Given the description of an element on the screen output the (x, y) to click on. 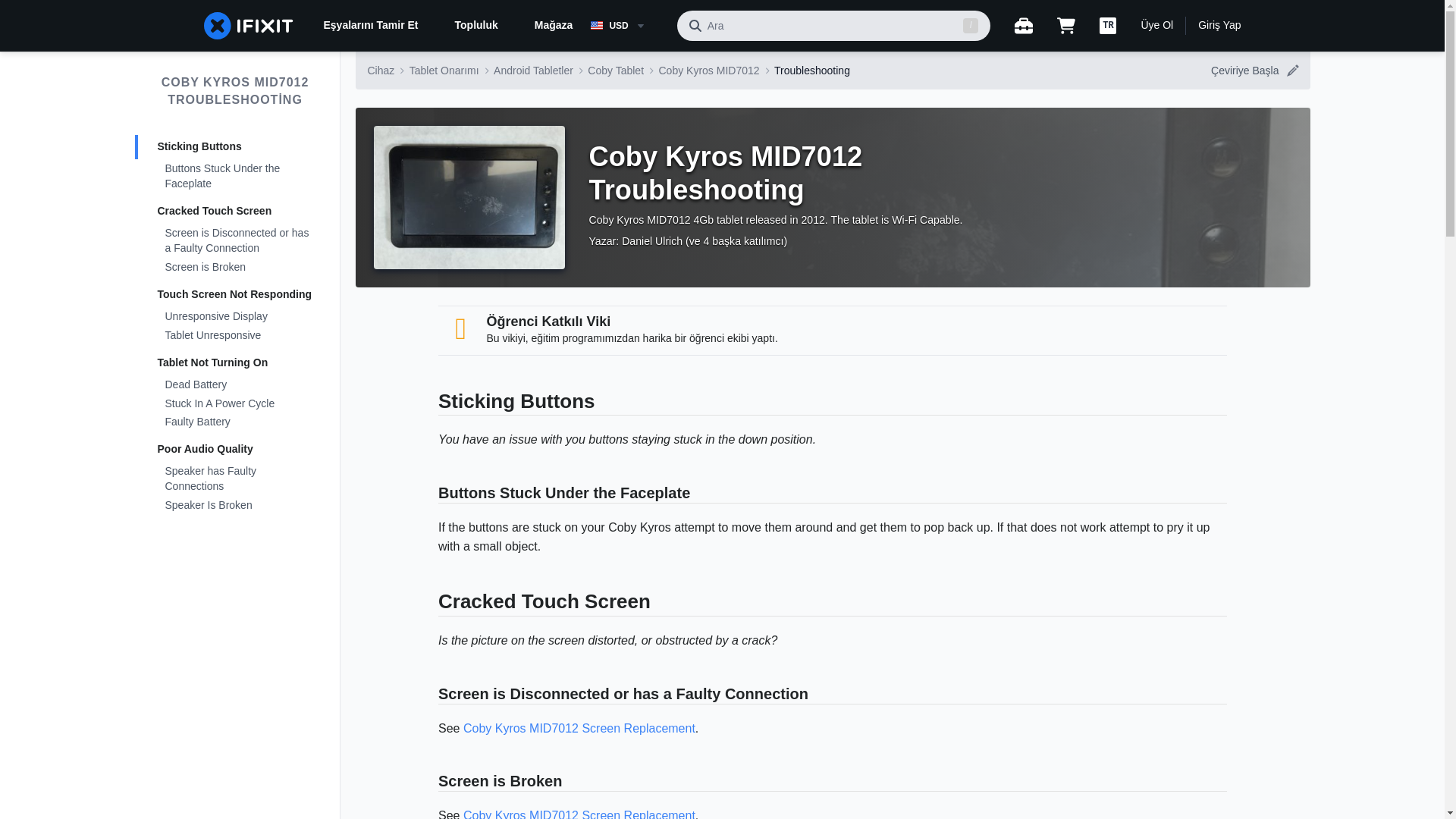
Unresponsive Display (235, 317)
Buttons Stuck Under the Faceplate (235, 176)
Faulty Battery (235, 422)
Troubleshooting (812, 70)
Sticking Buttons (235, 146)
Dead Battery (235, 385)
Stuck In A Power Cycle (235, 403)
Screen is Broken (235, 267)
Cracked Touch Screen (235, 211)
Coby Tablet (615, 70)
Speaker has Faulty Connections (235, 479)
Screen is Disconnected or has a Faulty Connection (235, 241)
USD (627, 25)
Poor Audio Quality (235, 449)
Touch Screen Not Responding (235, 294)
